Given the description of an element on the screen output the (x, y) to click on. 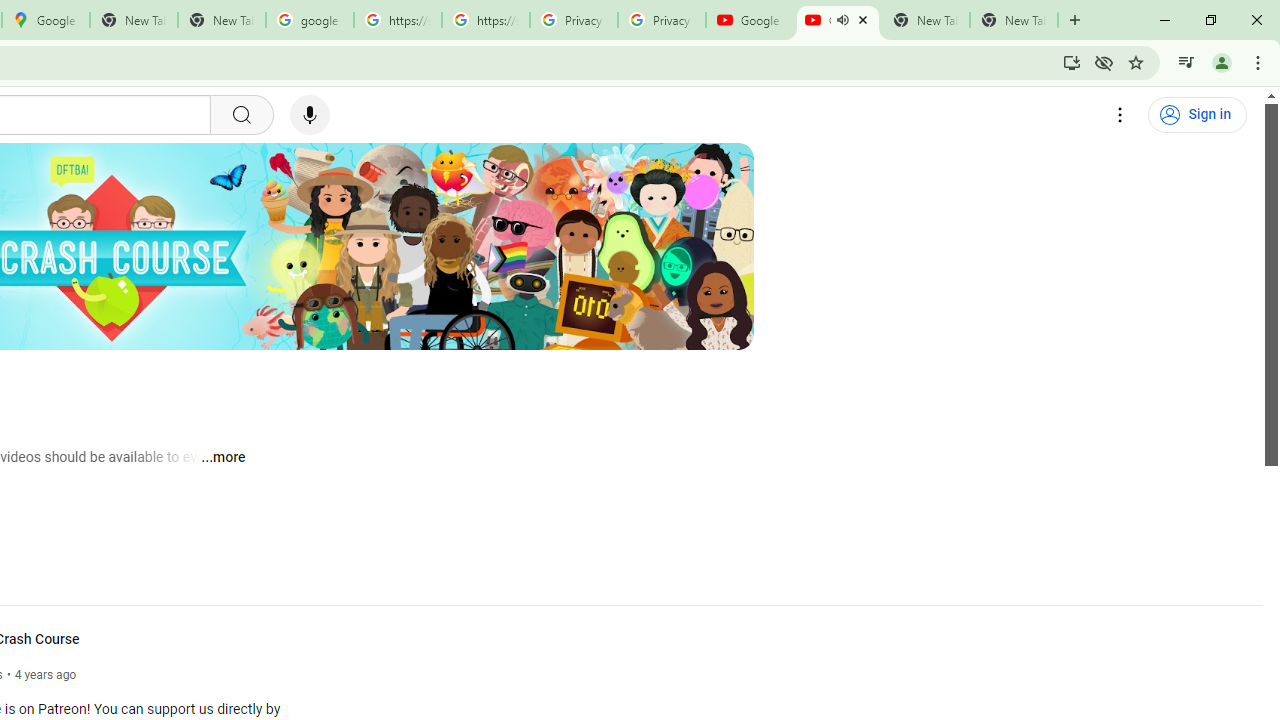
Install YouTube (1071, 62)
CrashCourse - YouTube - Audio playing (837, 20)
New Tab (1014, 20)
https://scholar.google.com/ (397, 20)
